Given the description of an element on the screen output the (x, y) to click on. 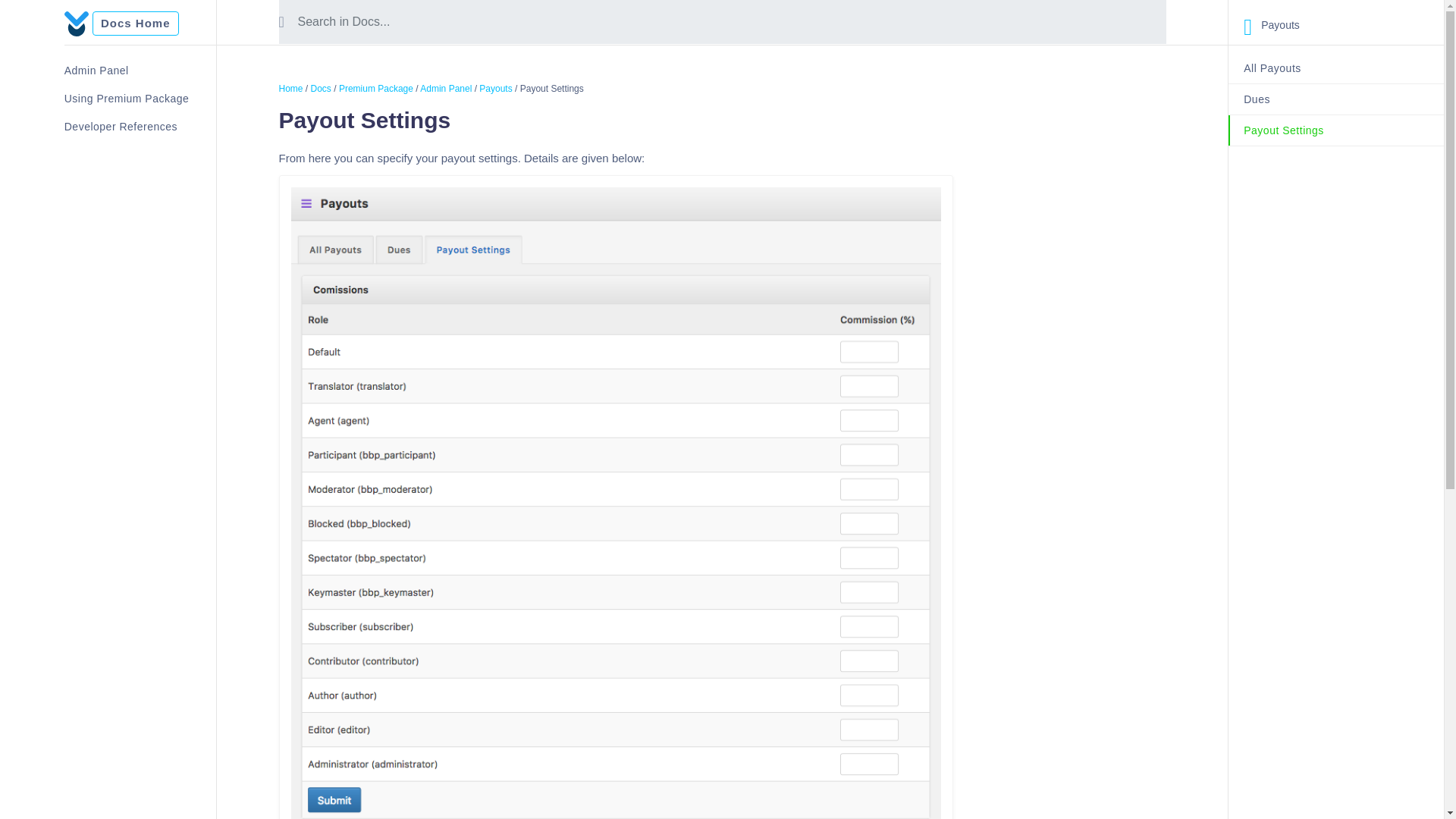
Premium Package (376, 88)
Admin Panel (139, 70)
Payouts (495, 88)
Admin Panel (445, 88)
Docs Home (136, 23)
Using Premium Package (139, 99)
All Payouts (1336, 68)
Docs (321, 88)
Dues (1336, 99)
Payout Settings (1336, 130)
Home (290, 88)
Developer References (139, 126)
